Given the description of an element on the screen output the (x, y) to click on. 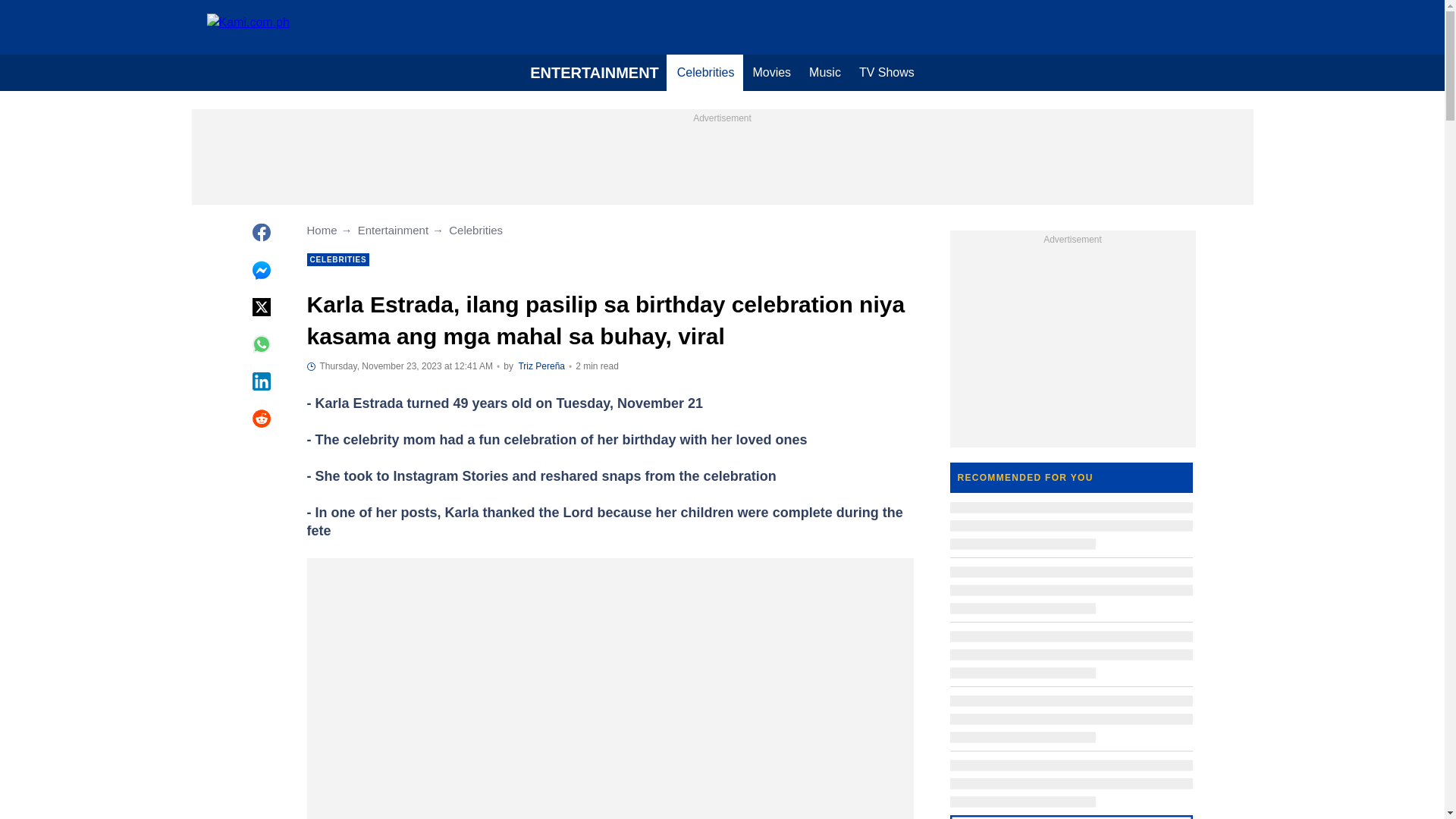
Movies (770, 72)
TV Shows (886, 72)
ENTERTAINMENT (594, 72)
Celebrities (706, 72)
Music (824, 72)
Author page (541, 366)
